Given the description of an element on the screen output the (x, y) to click on. 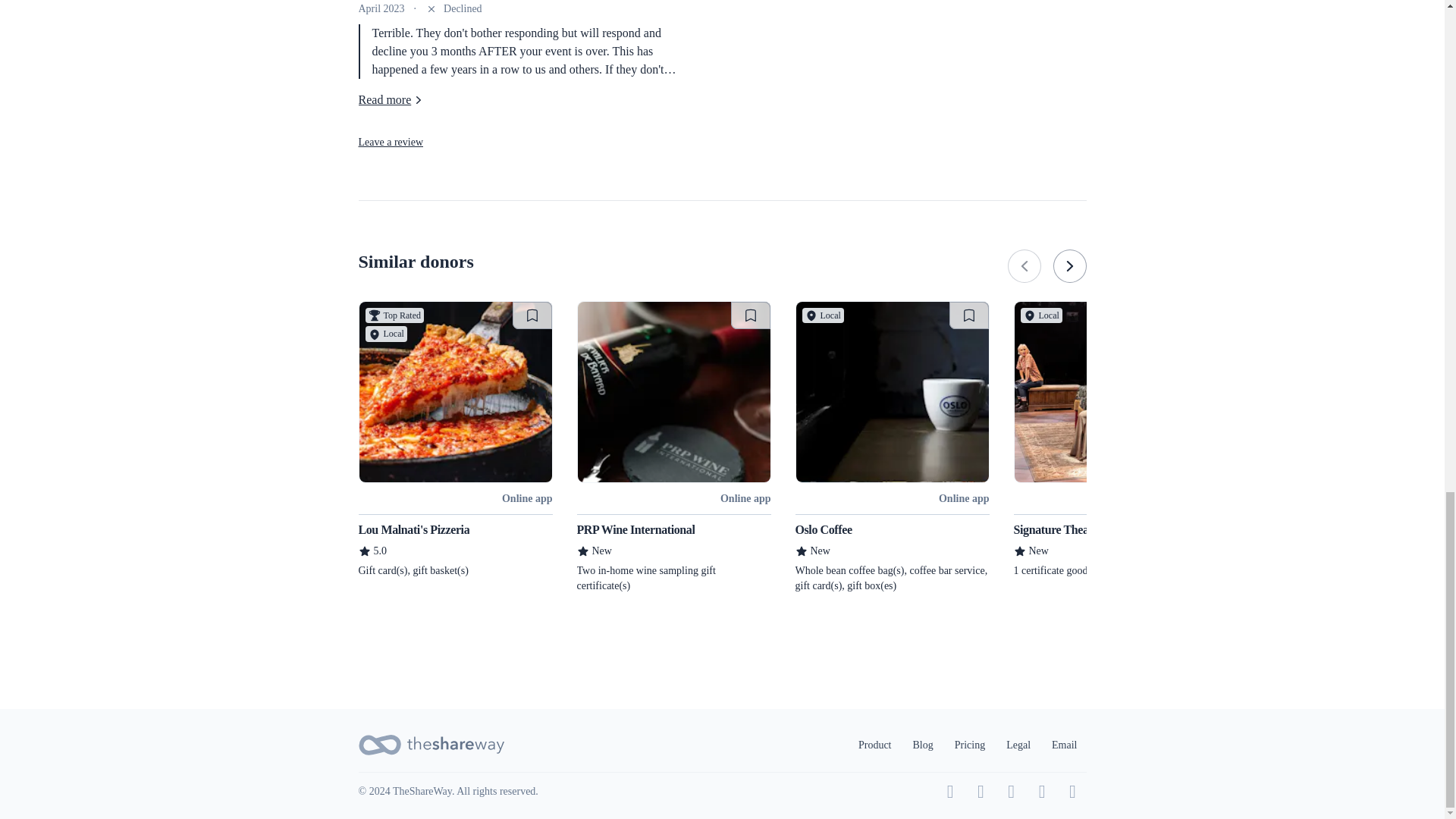
Read more (392, 99)
Product (874, 745)
Blog (923, 745)
Leave a review (390, 142)
Pricing (969, 745)
Email (1064, 745)
Legal (1018, 745)
